Given the description of an element on the screen output the (x, y) to click on. 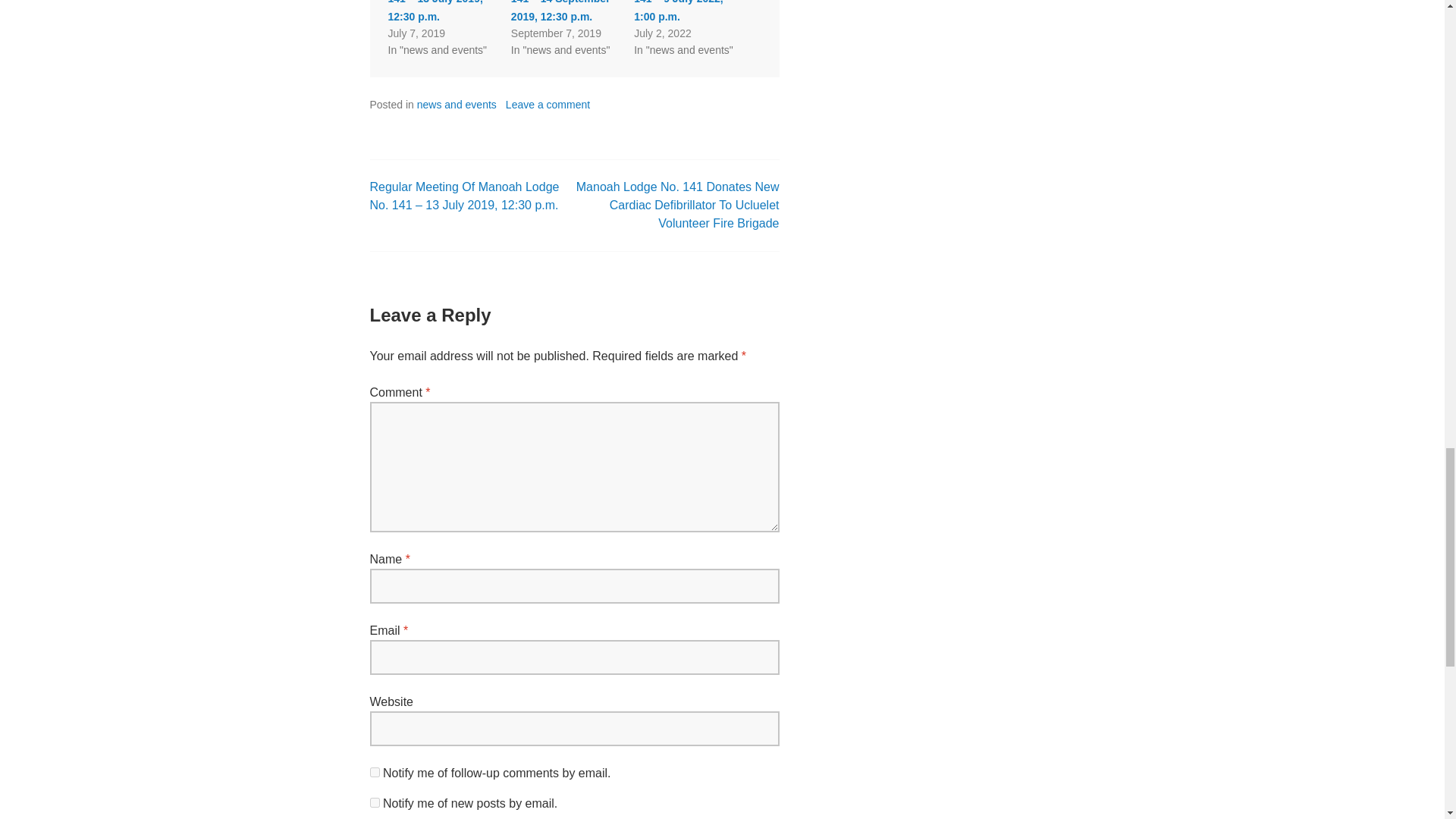
subscribe (374, 772)
Leave a comment (547, 104)
news and events (456, 104)
subscribe (374, 802)
